Given the description of an element on the screen output the (x, y) to click on. 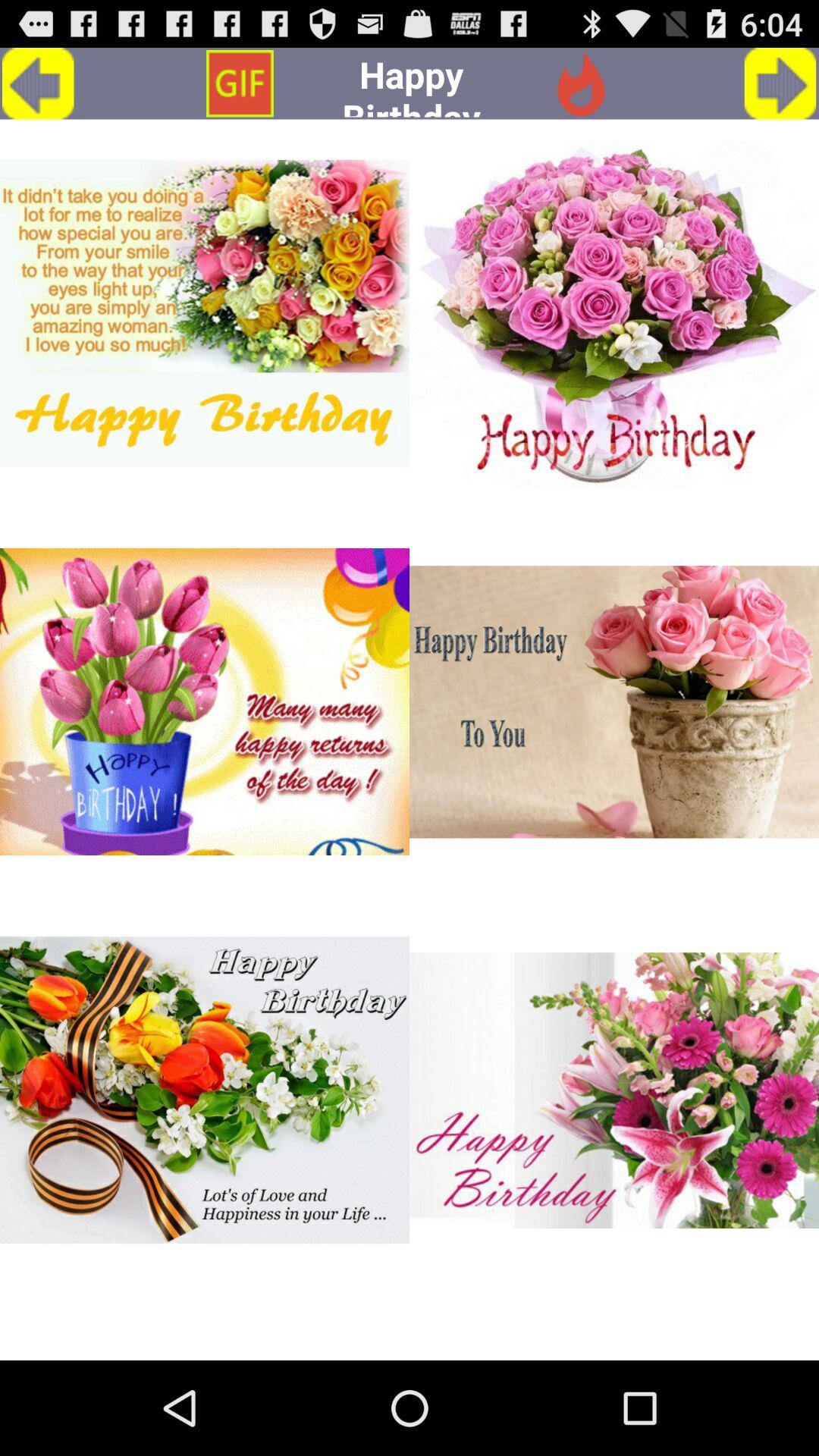
go forward (780, 83)
